Given the description of an element on the screen output the (x, y) to click on. 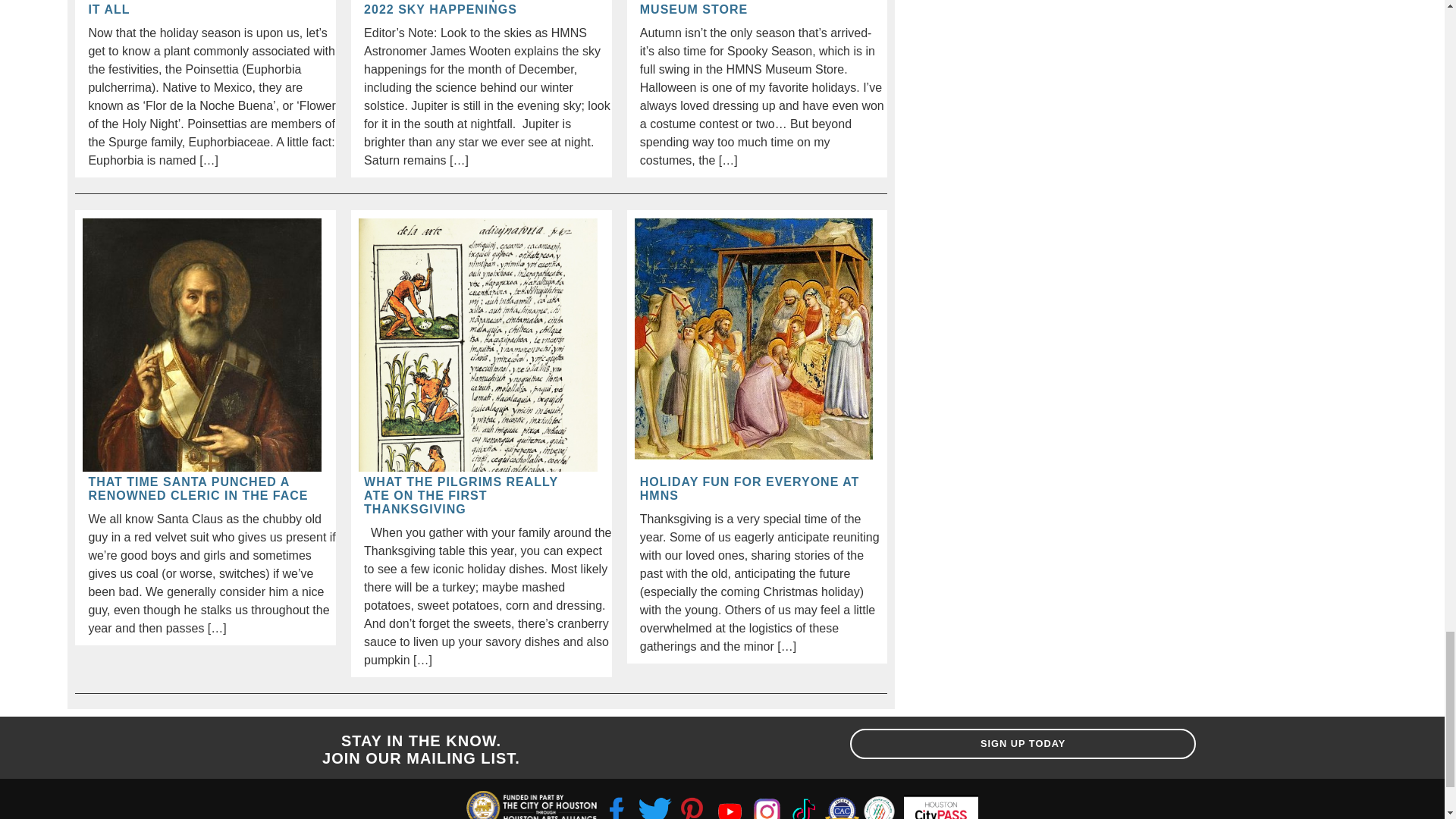
Getting to the Poinsettia of it all (199, 8)
Holiday Fun For Everyone At HMNS (751, 488)
Spooky Season at the HMNS Museum Store (751, 8)
SPOOKY SEASON AT THE HMNS MUSEUM STORE (751, 8)
GETTING TO THE POINSETTIA OF IT ALL (199, 8)
That Time Santa Punched A Renowned Cleric In The Face (199, 488)
THAT TIME SANTA PUNCHED A RENOWNED CLERIC IN THE FACE (199, 488)
What The Pilgrims Really Ate On The First Thanksgiving (475, 495)
HOLIDAY FUN FOR EVERYONE AT HMNS (751, 488)
WHAT THE PILGRIMS REALLY ATE ON THE FIRST THANKSGIVING (475, 495)
